Given the description of an element on the screen output the (x, y) to click on. 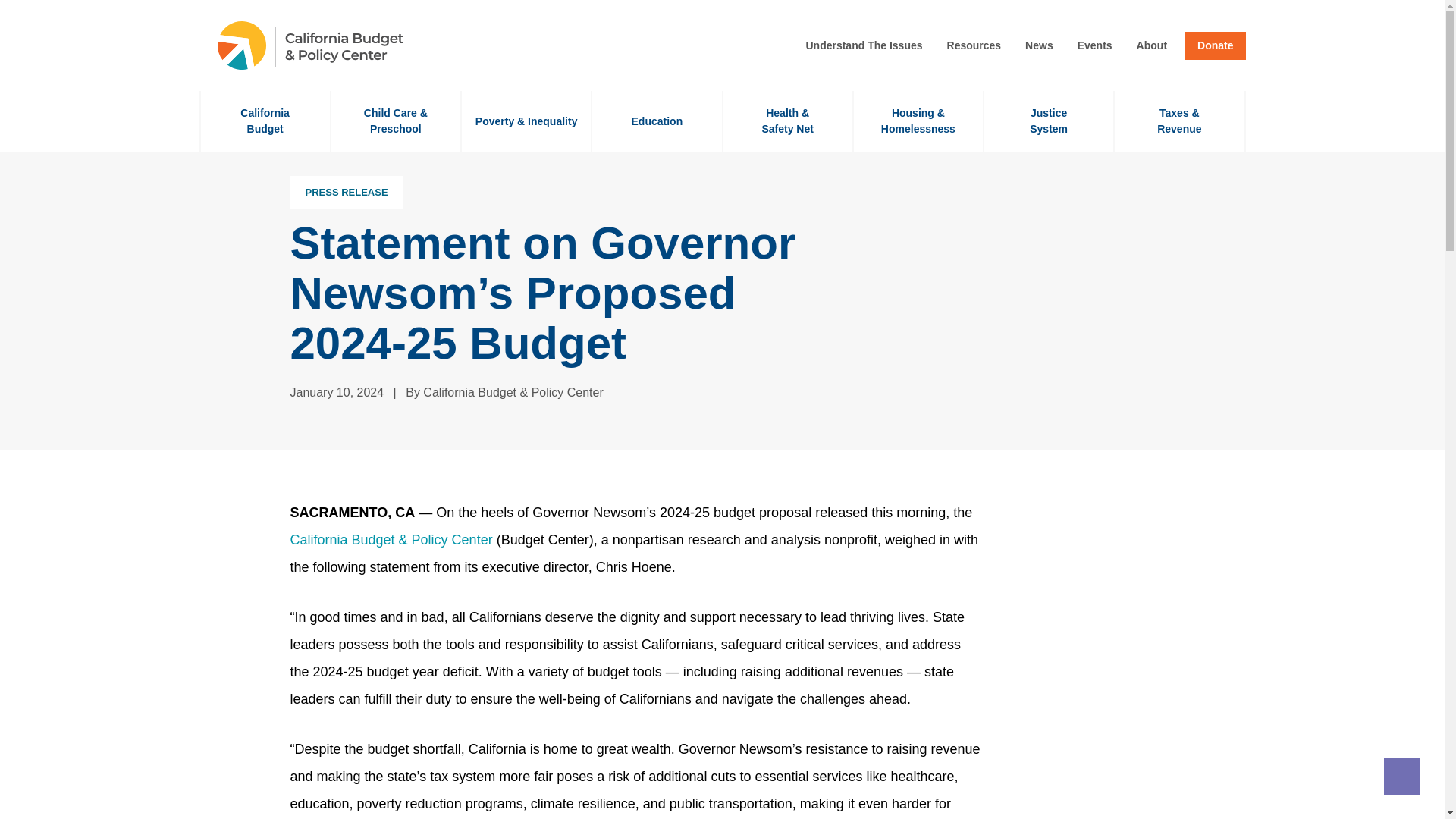
Events (264, 120)
Resources (1094, 45)
News (1048, 120)
Donate (973, 45)
About (1039, 45)
Understand The Issues (1214, 45)
Education (1152, 45)
